Given the description of an element on the screen output the (x, y) to click on. 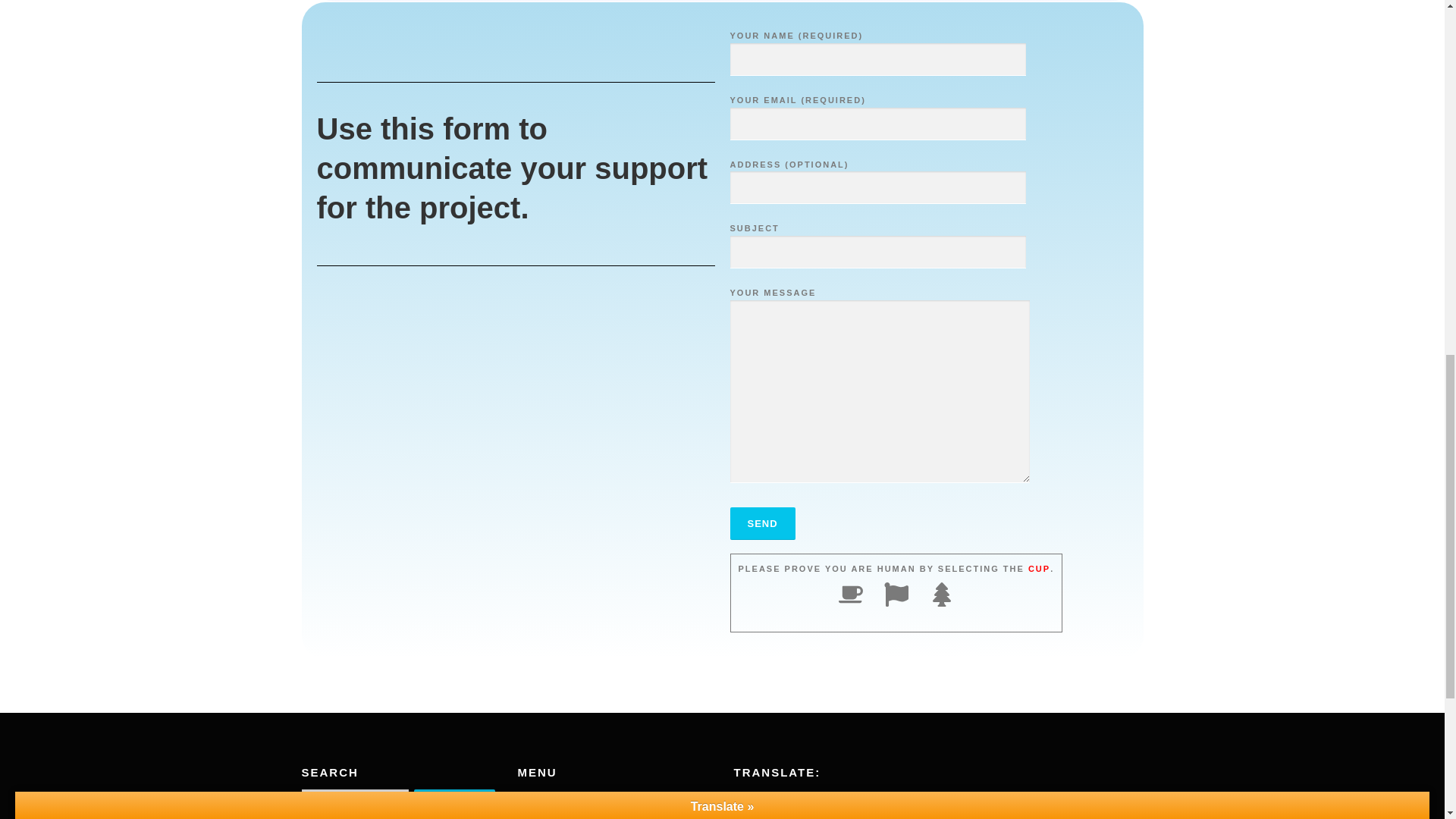
Search (454, 804)
Send (761, 522)
Send (761, 522)
Home (530, 797)
Arabic (740, 801)
Thai (846, 801)
Search (454, 804)
Russian (816, 801)
Spanish (831, 801)
Punjabi (801, 801)
Hindi (785, 801)
English (770, 801)
Search (454, 804)
